Given the description of an element on the screen output the (x, y) to click on. 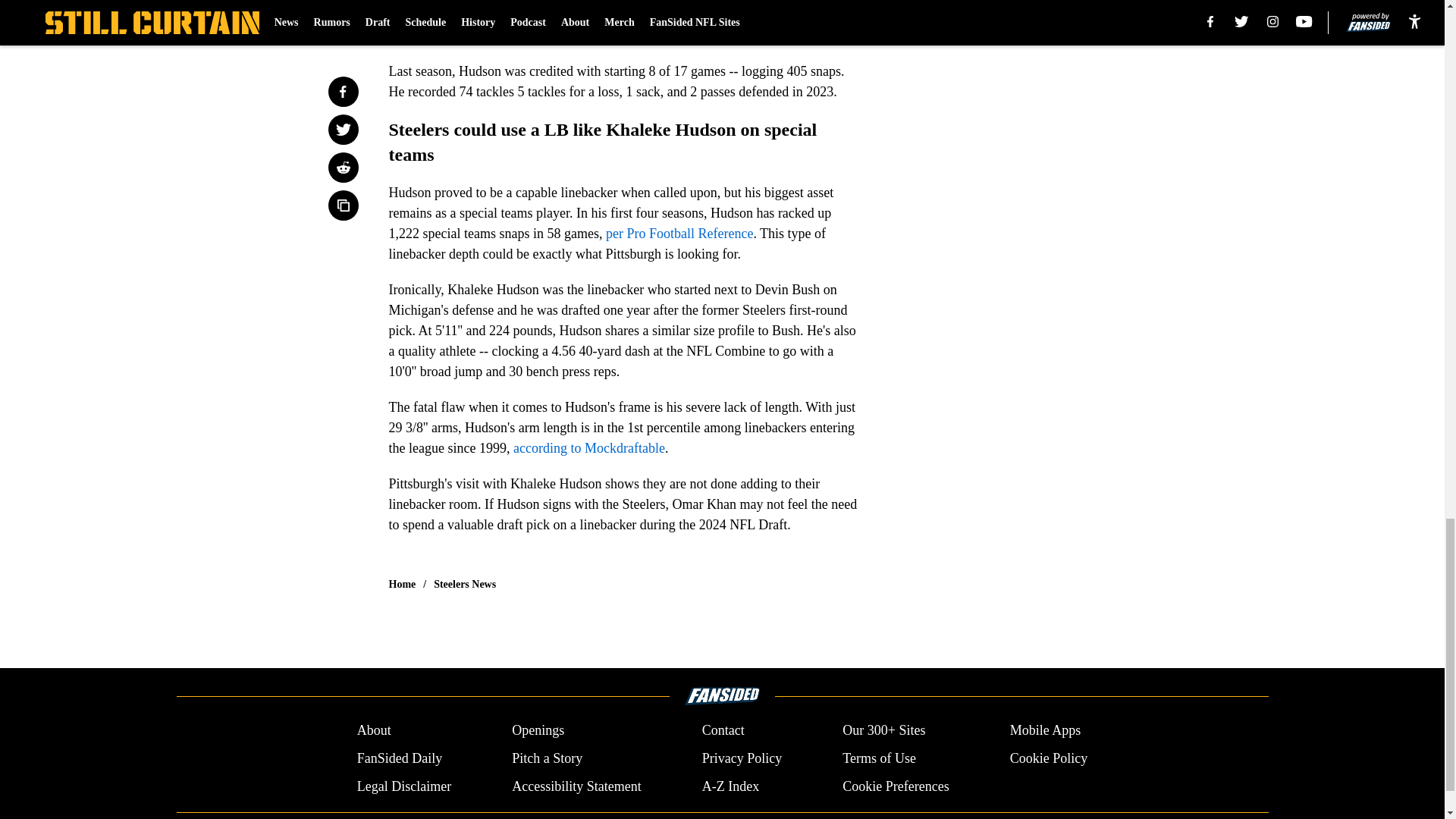
per Pro Football Reference (678, 233)
Contact (722, 730)
Pitch a Story (547, 758)
Mobile Apps (1045, 730)
Home (401, 584)
Privacy Policy (742, 758)
About (373, 730)
Openings (538, 730)
according to Mockdraftable (589, 447)
Steelers News (464, 584)
